Given the description of an element on the screen output the (x, y) to click on. 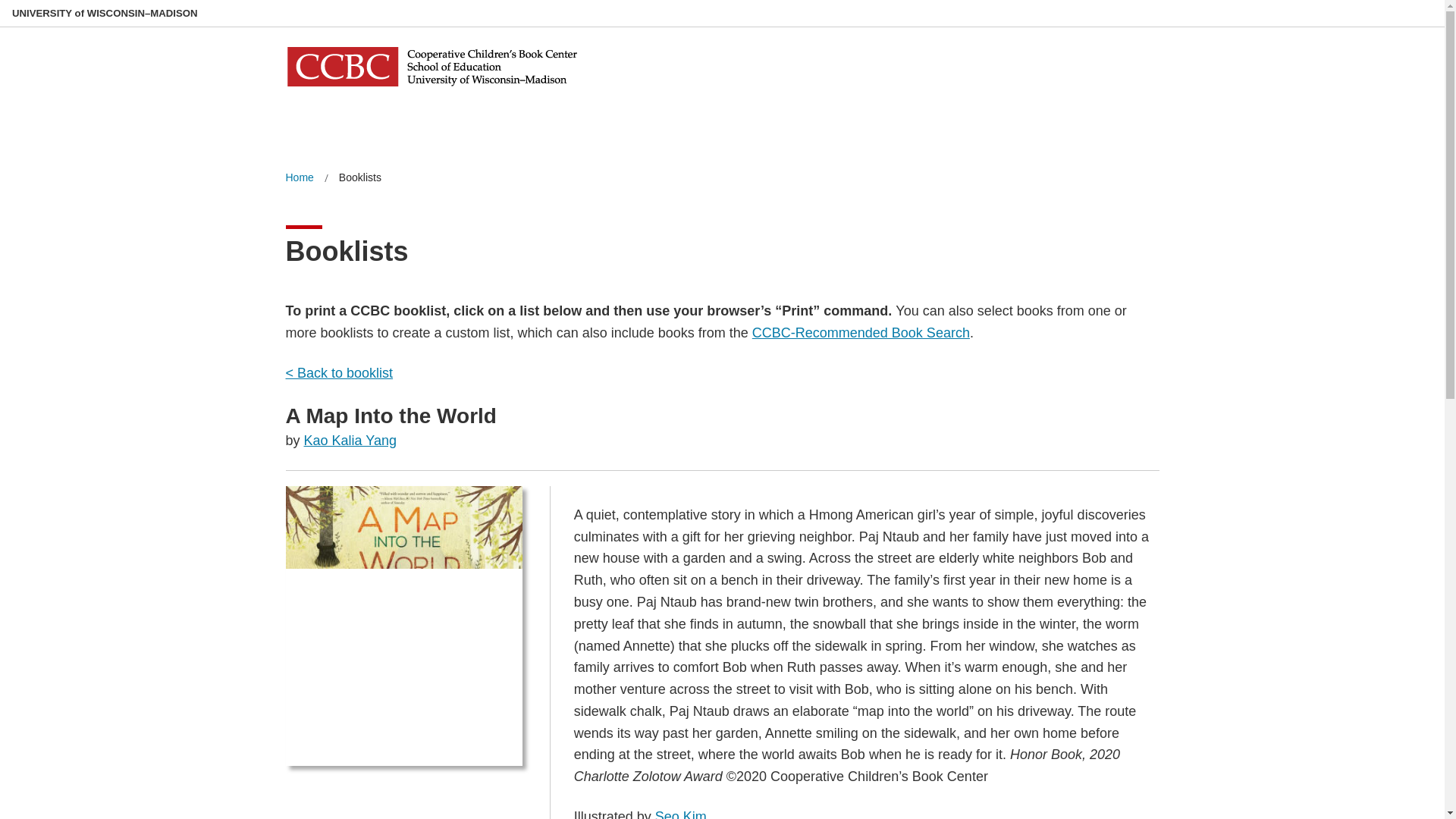
Skip to main content (3, 3)
Booklists (360, 178)
Home (299, 178)
